Given the description of an element on the screen output the (x, y) to click on. 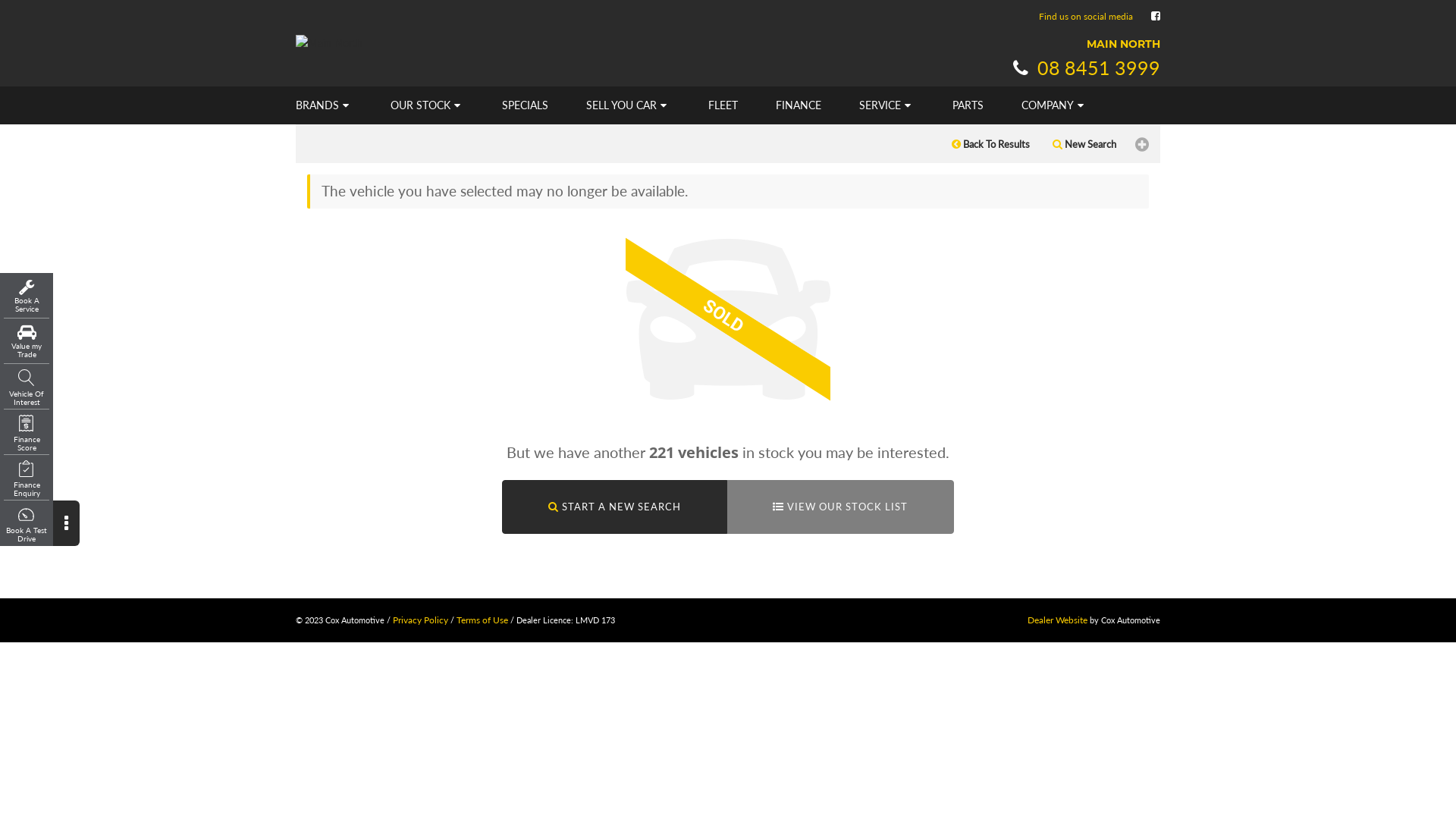
Finance Enquiry Element type: text (26, 479)
FINANCE Element type: text (798, 105)
COMPANY Element type: text (1054, 105)
SERVICE Element type: text (886, 105)
Back To Results Element type: text (990, 144)
PARTS Element type: text (967, 105)
Book A Test Drive Element type: text (26, 524)
FLEET Element type: text (722, 105)
Dealer Website Element type: text (1057, 619)
New Search Element type: text (1084, 144)
Vehicle Of Interest Element type: text (26, 388)
Finance Score Element type: text (26, 433)
OUR STOCK Element type: text (427, 105)
Book A Service Element type: text (26, 295)
08 8451 3999 Element type: text (1084, 67)
VIEW OUR STOCK LIST Element type: text (839, 506)
Privacy Policy Element type: text (420, 619)
Value my Trade Element type: text (26, 341)
Facebook Element type: hover (1155, 15)
SPECIALS Element type: text (525, 105)
START A NEW SEARCH Element type: text (614, 506)
BRANDS Element type: text (325, 105)
SELL YOU CAR Element type: text (628, 105)
Terms of Use Element type: text (482, 619)
